Given the description of an element on the screen output the (x, y) to click on. 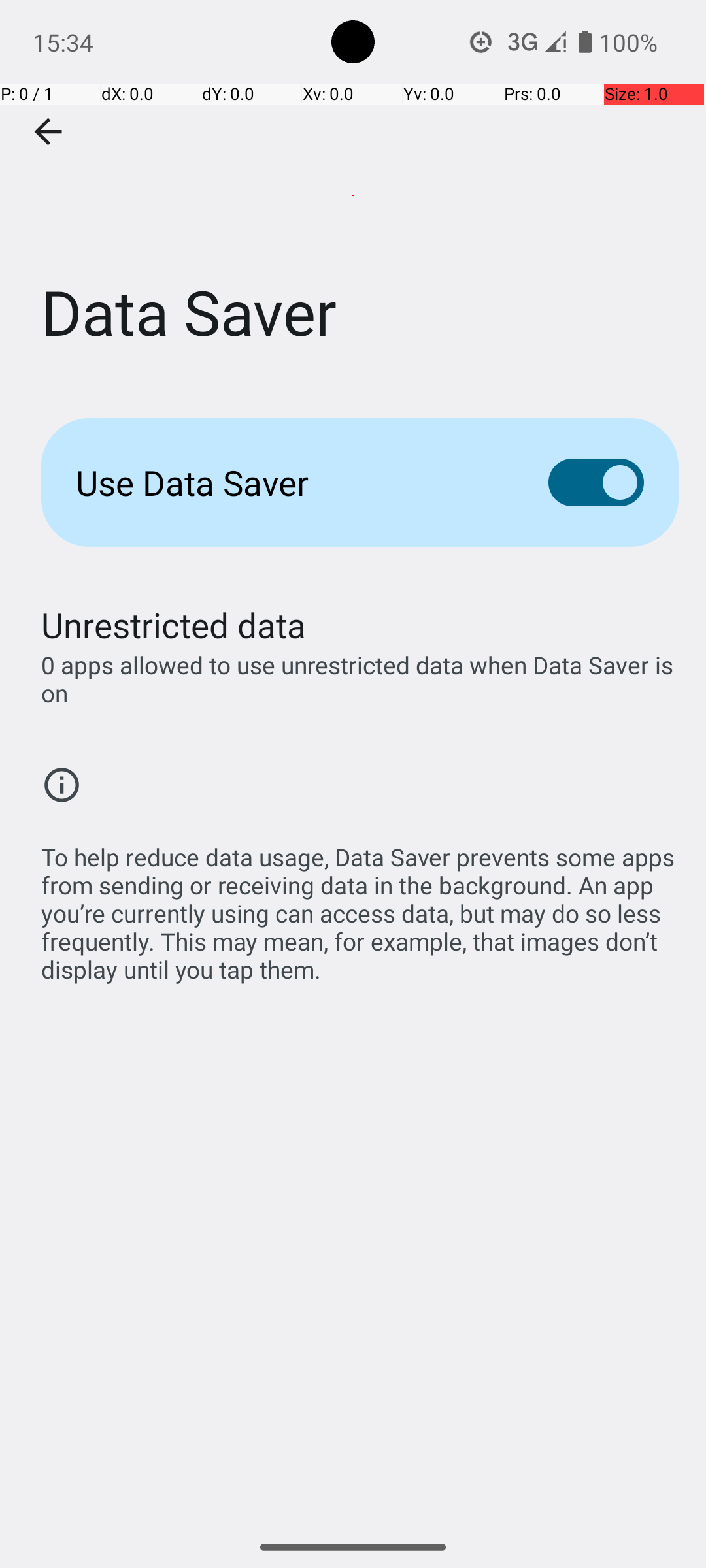
Data Saver Element type: android.widget.FrameLayout (353, 195)
Use Data Saver Element type: android.widget.TextView (291, 482)
Unrestricted data Element type: android.widget.TextView (173, 624)
0 apps allowed to use unrestricted data when Data Saver is on Element type: android.widget.TextView (359, 678)
To help reduce data usage, Data Saver prevents some apps from sending or receiving data in the background. An app you’re currently using can access data, but may do so less frequently. This may mean, for example, that images don’t display until you tap them. Element type: android.widget.TextView (359, 905)
